Given the description of an element on the screen output the (x, y) to click on. 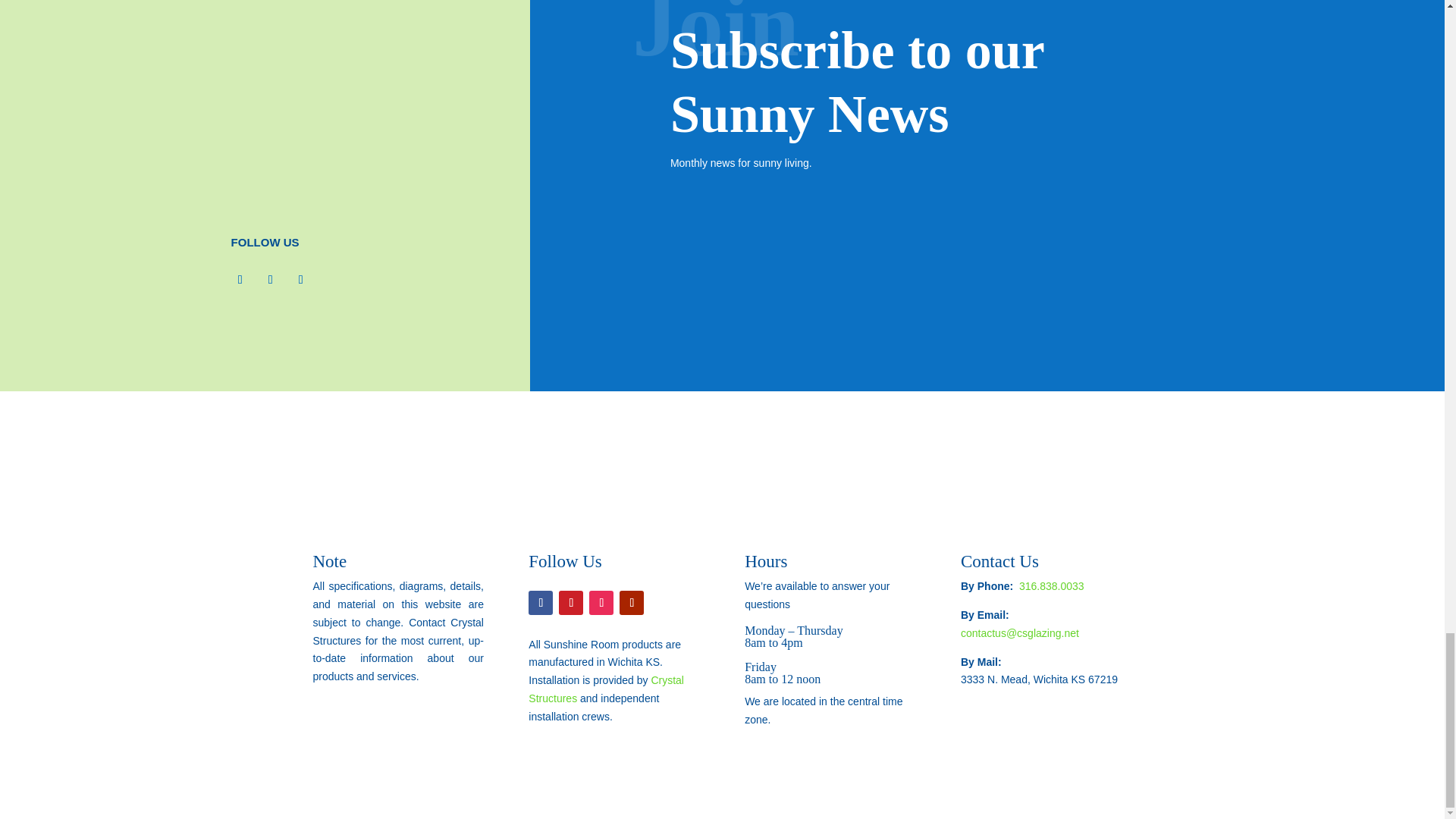
Follow on Pinterest (571, 602)
Follow on Youtube (631, 602)
Follow on X (270, 279)
Follow on Instagram (600, 602)
Follow on LinkedIn (300, 279)
Follow on Facebook (540, 602)
Follow on Facebook (239, 279)
